Given the description of an element on the screen output the (x, y) to click on. 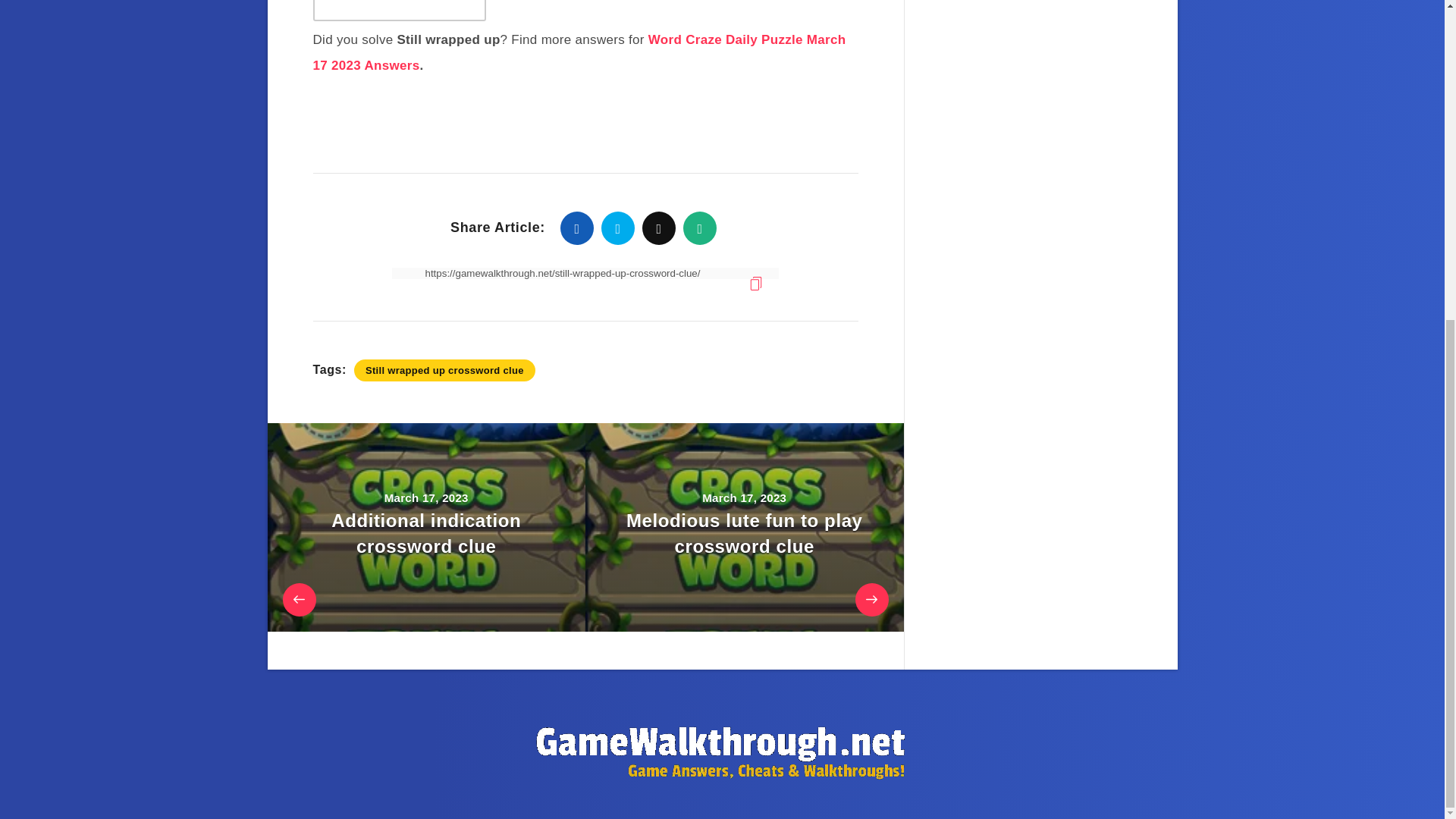
Word Craze Daily Puzzle March 17 2023 Answers (579, 52)
Still wrapped up crossword clue (444, 370)
